Given the description of an element on the screen output the (x, y) to click on. 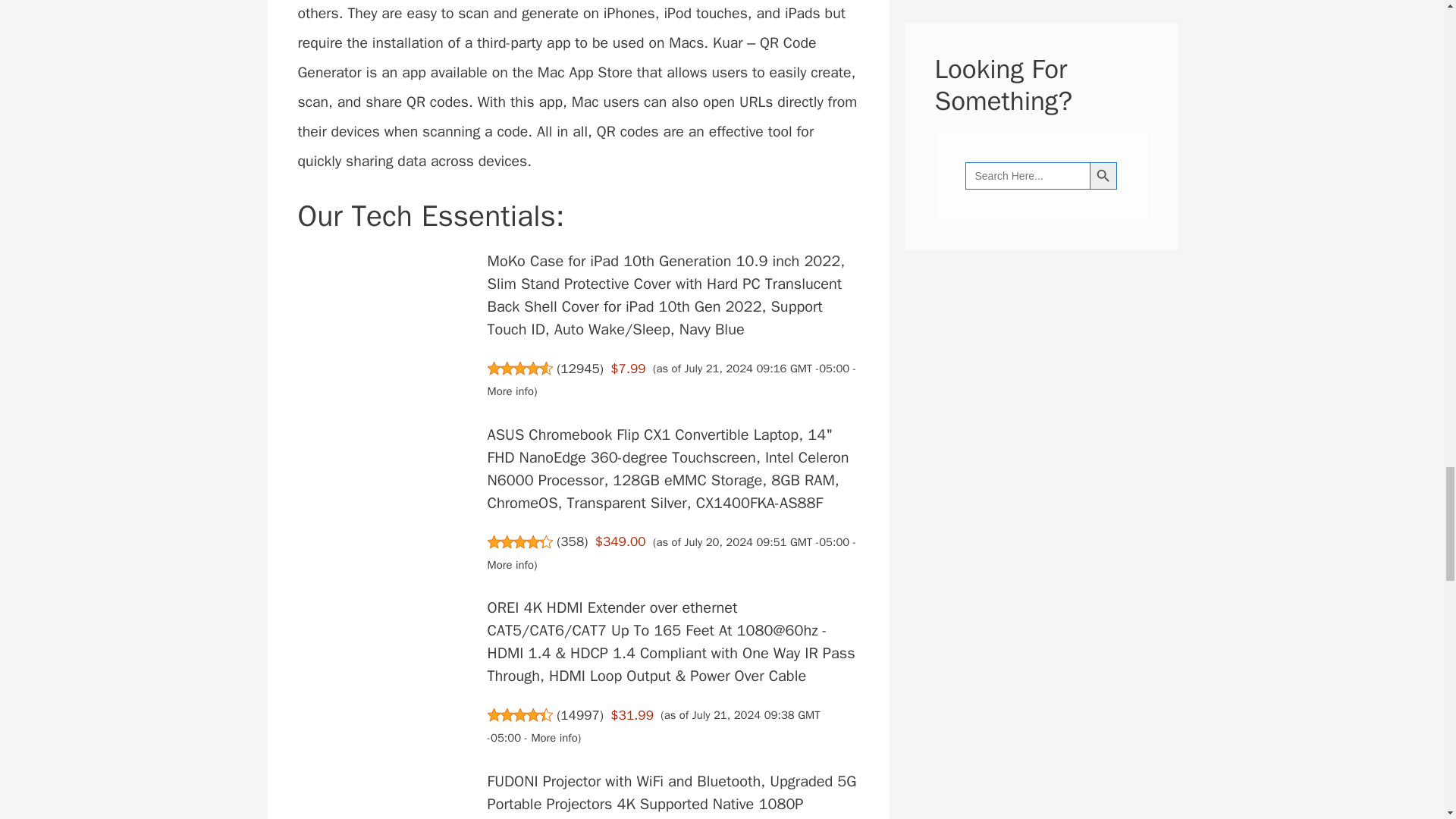
ASUS Chromebook Flip CX1 Convertible Laptop, 14 (667, 468)
How to Create QR Codes on Your Mac? 6 (387, 446)
How to Create QR Codes on Your Mac? 4 (387, 274)
